Given the description of an element on the screen output the (x, y) to click on. 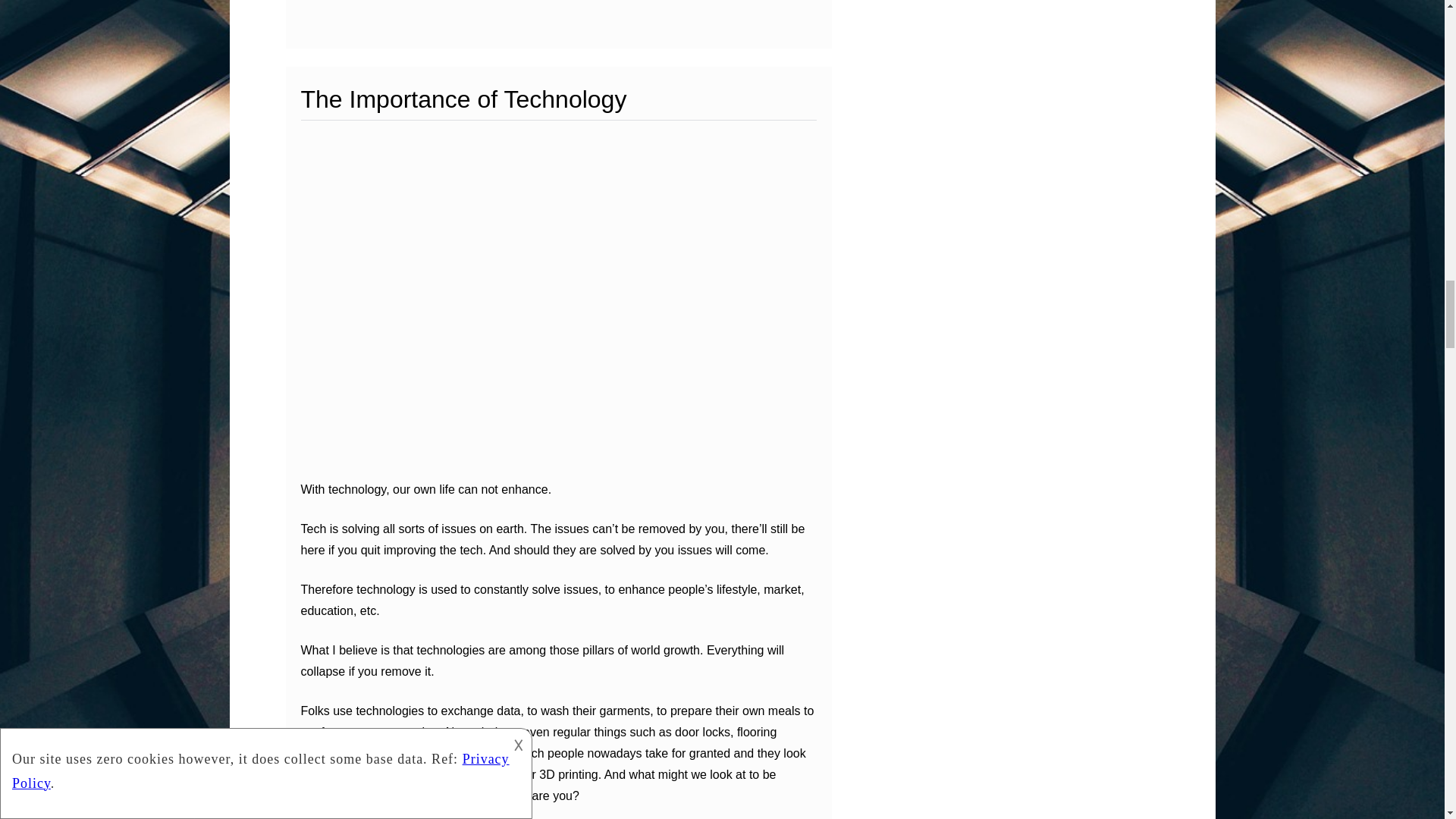
The Importance of Technology (462, 99)
